Given the description of an element on the screen output the (x, y) to click on. 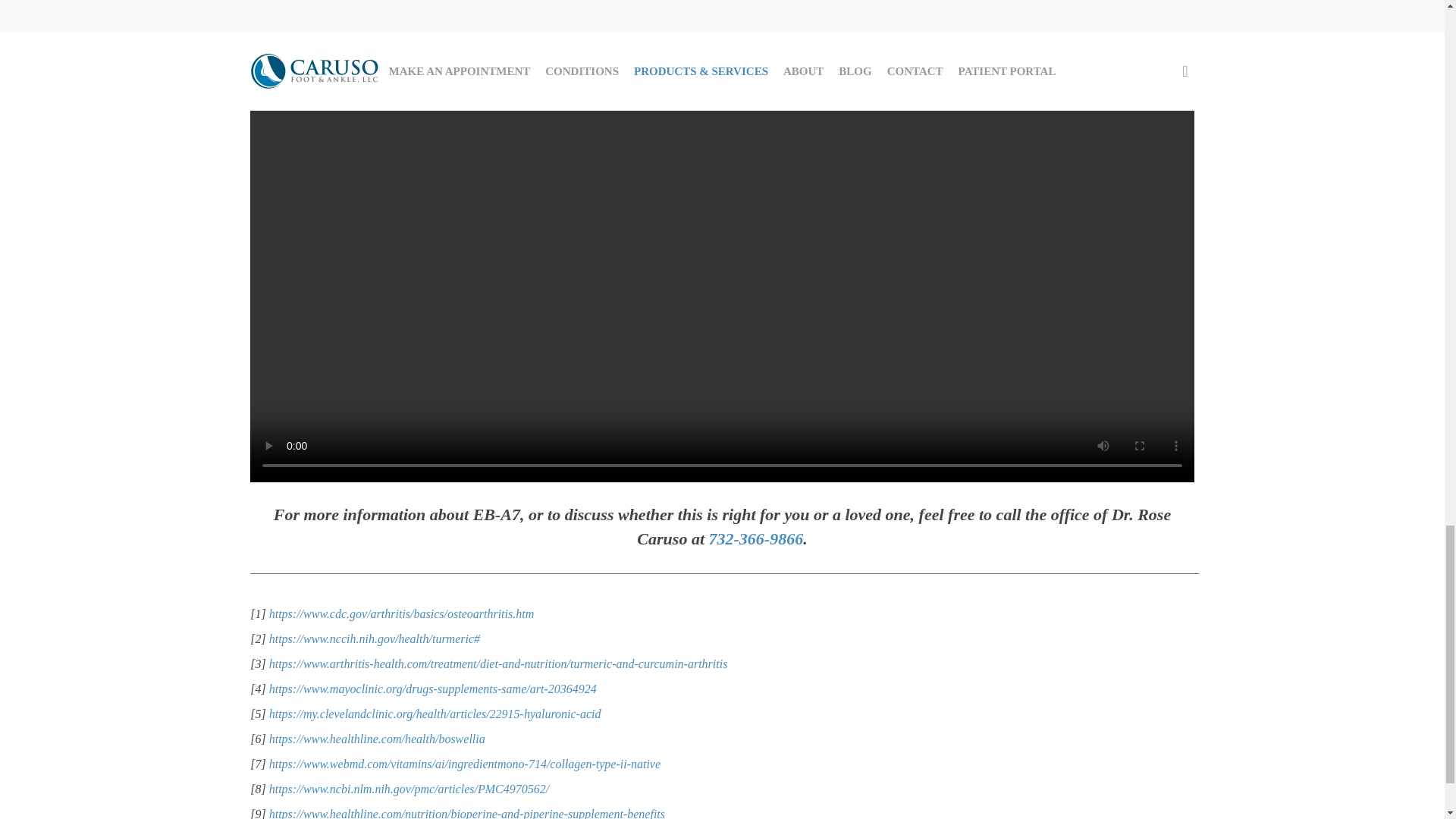
732-366-9866 (755, 538)
